Given the description of an element on the screen output the (x, y) to click on. 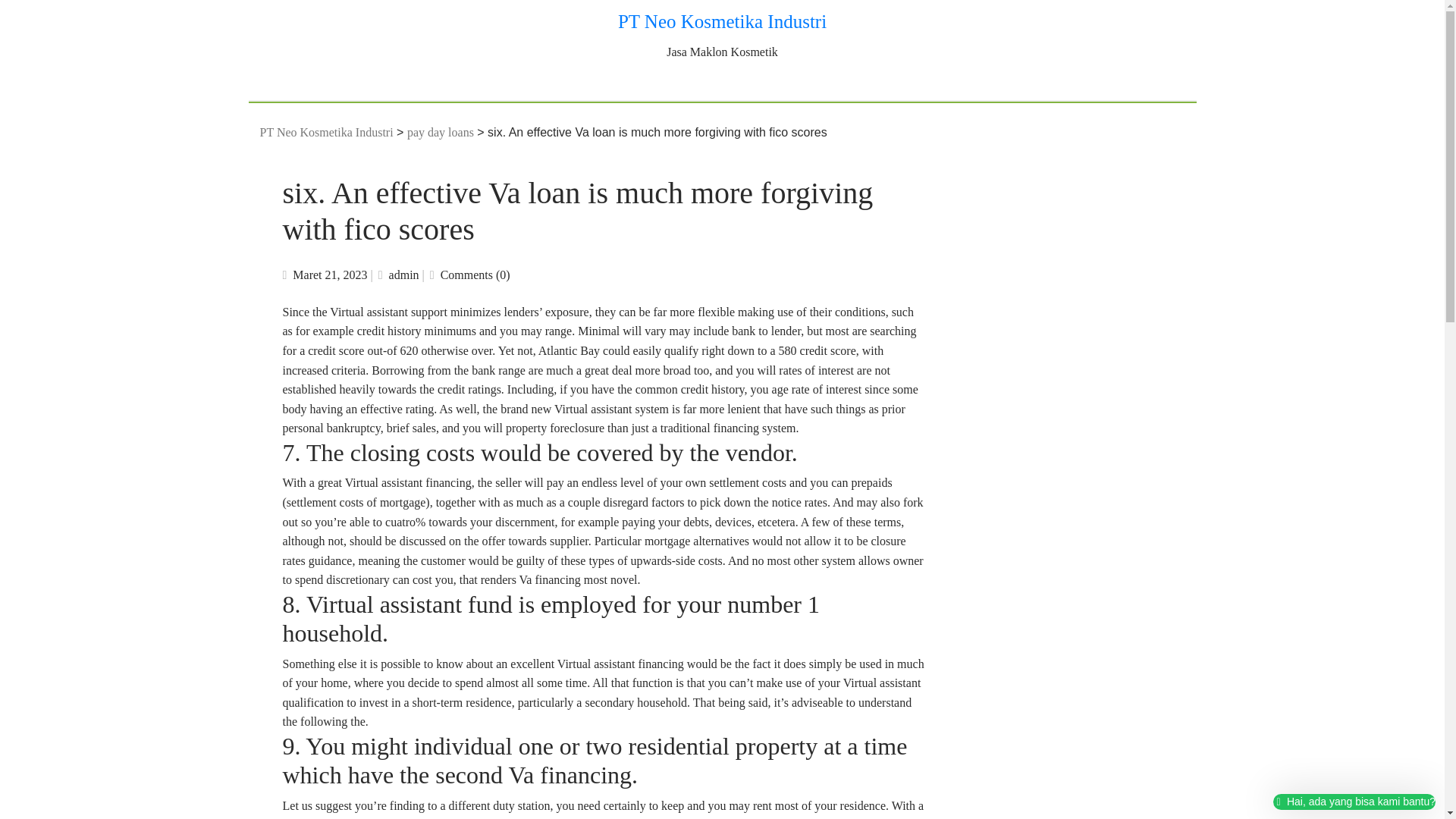
pay day loans (440, 132)
PT Neo Kosmetika Industri (326, 132)
PT Neo Kosmetika Industri (722, 21)
